Given the description of an element on the screen output the (x, y) to click on. 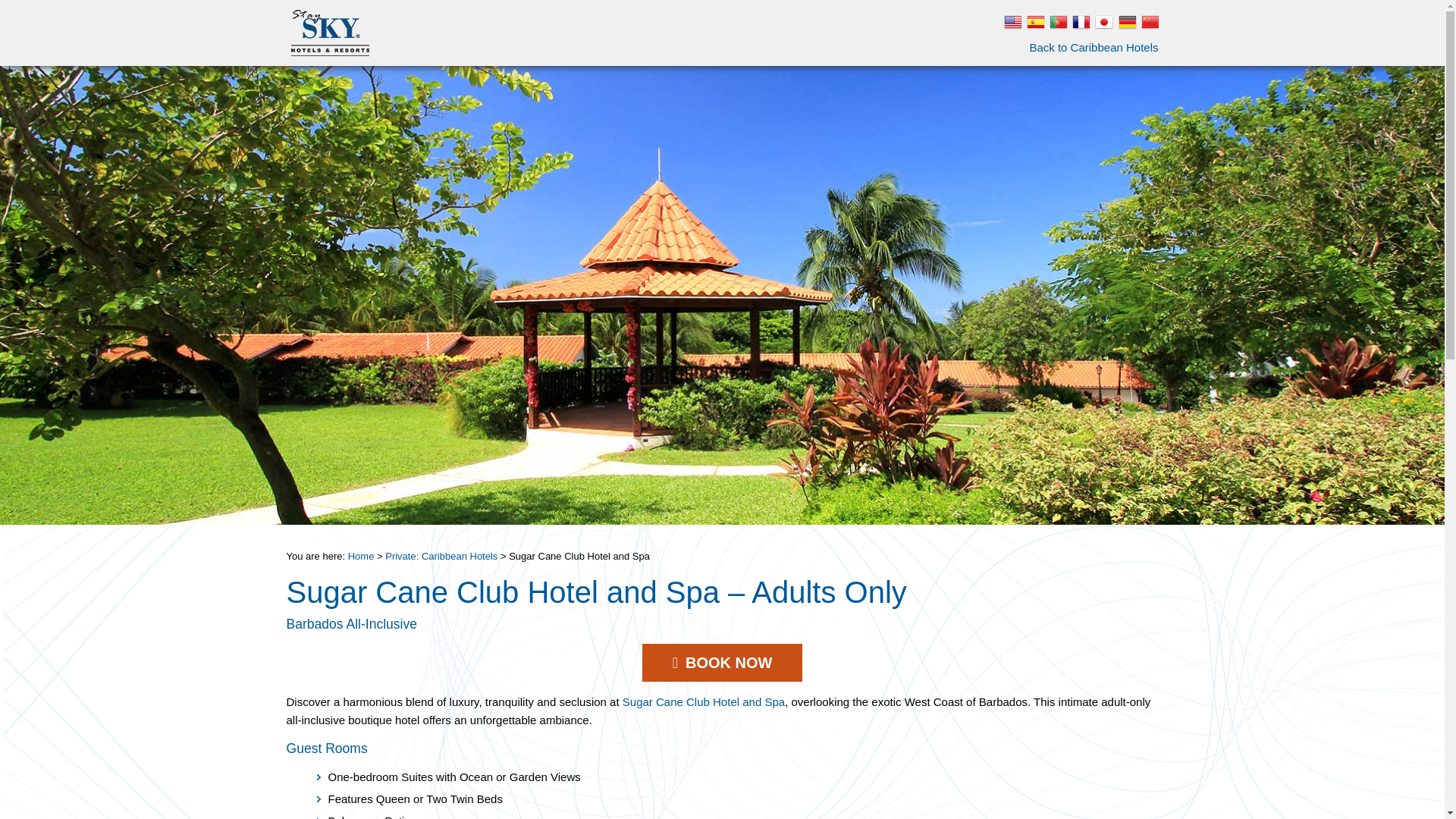
French (1078, 22)
Back to Caribbean Hotels (1093, 47)
Sugar Cane Club Hotel and Spa (722, 662)
Portuguese (703, 701)
Private: Caribbean Hotels (1056, 22)
Next (441, 555)
Spanish (1408, 304)
English (1033, 22)
Previous (1010, 22)
Home (35, 304)
German (360, 555)
Japanese (1124, 22)
